Given the description of an element on the screen output the (x, y) to click on. 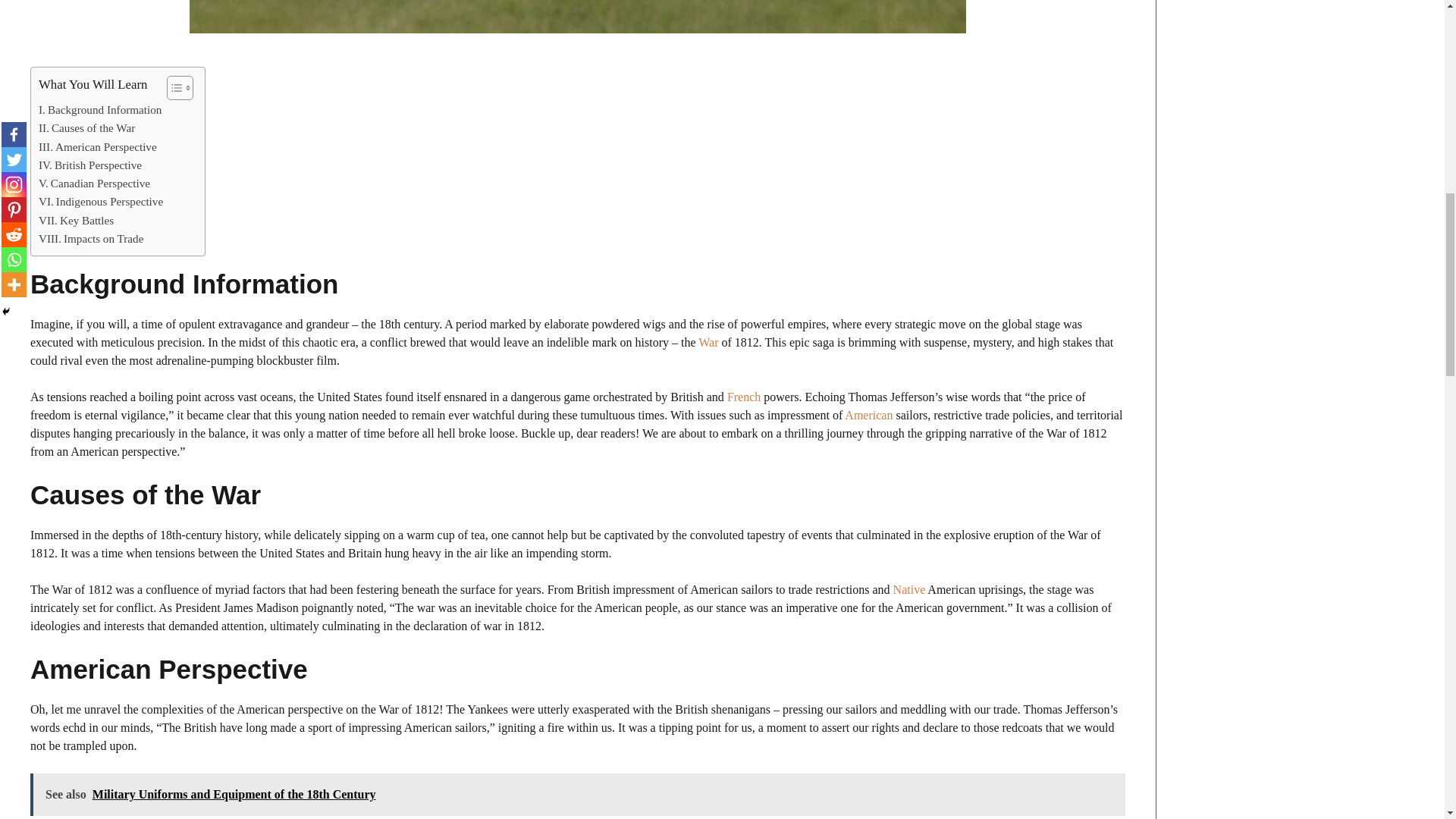
Canadian Perspective (94, 183)
American Perspective (98, 147)
Indigenous Perspective (101, 201)
Native (909, 589)
Background Information (100, 109)
Key Battles (76, 220)
British Perspective (90, 165)
Canadian Perspective (94, 183)
Indigenous Perspective (101, 201)
Causes of the War (87, 127)
